Given the description of an element on the screen output the (x, y) to click on. 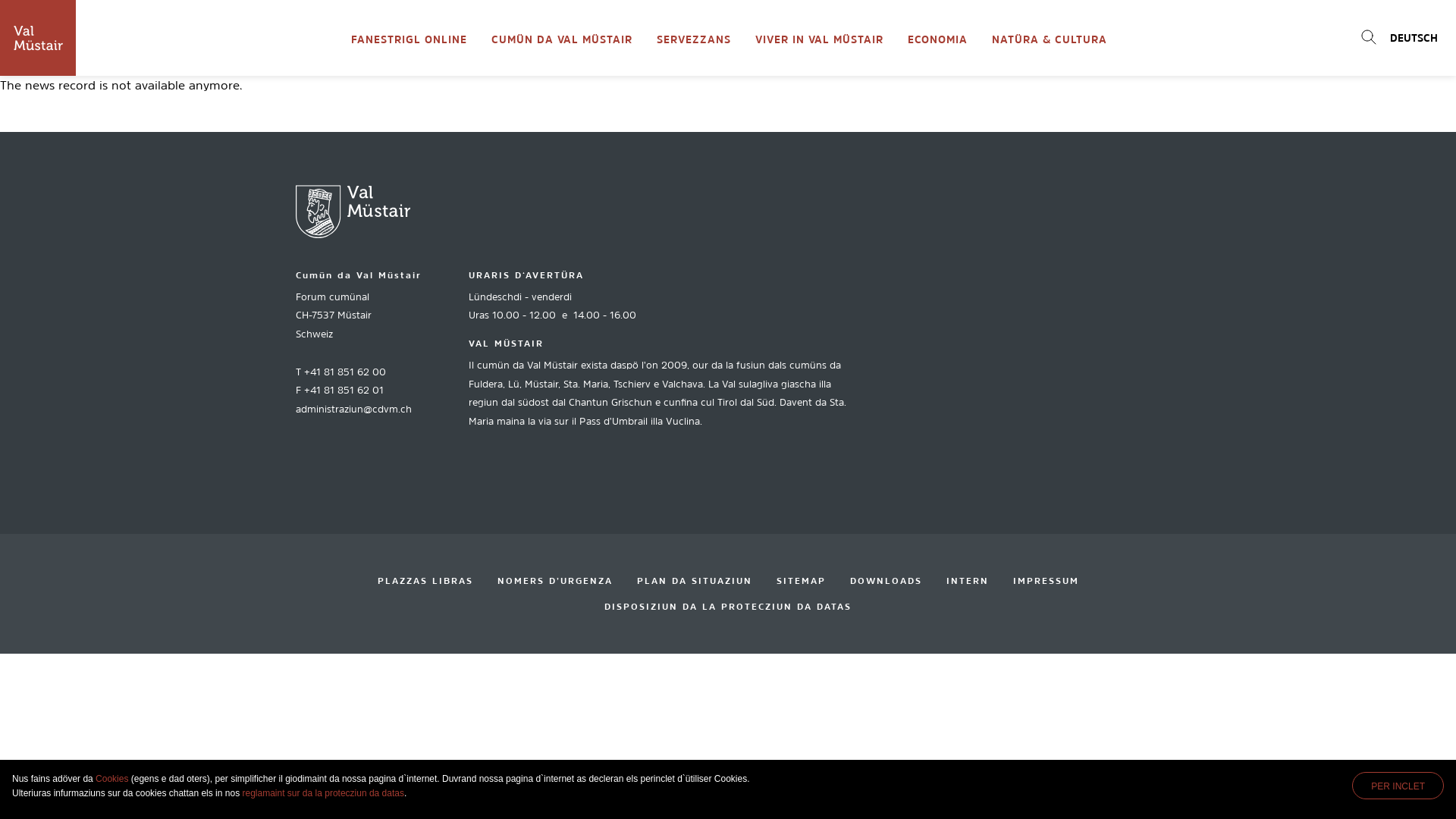
SERVEZZANS Element type: text (693, 37)
FANESTRIGL ONLINE Element type: text (408, 37)
Cookies Element type: text (111, 778)
PLAZZAS LIBRAS Element type: text (425, 580)
PER INCLET Element type: text (1397, 785)
DEUTSCH Element type: text (1413, 37)
administraziun@cdvm.ch Element type: text (353, 409)
INTERN Element type: text (967, 580)
SITEMAP Element type: text (800, 580)
PLAN DA SITUAZIUN Element type: text (694, 580)
IMPRESSUM Element type: text (1046, 580)
ECONOMIA Element type: text (936, 37)
DISPOSIZIUN DA LA PROTECZIUN DA DATAS Element type: text (727, 606)
DOWNLOADS Element type: text (885, 580)
reglamaint sur da la protecziun da datas Element type: text (322, 792)
